Given the description of an element on the screen output the (x, y) to click on. 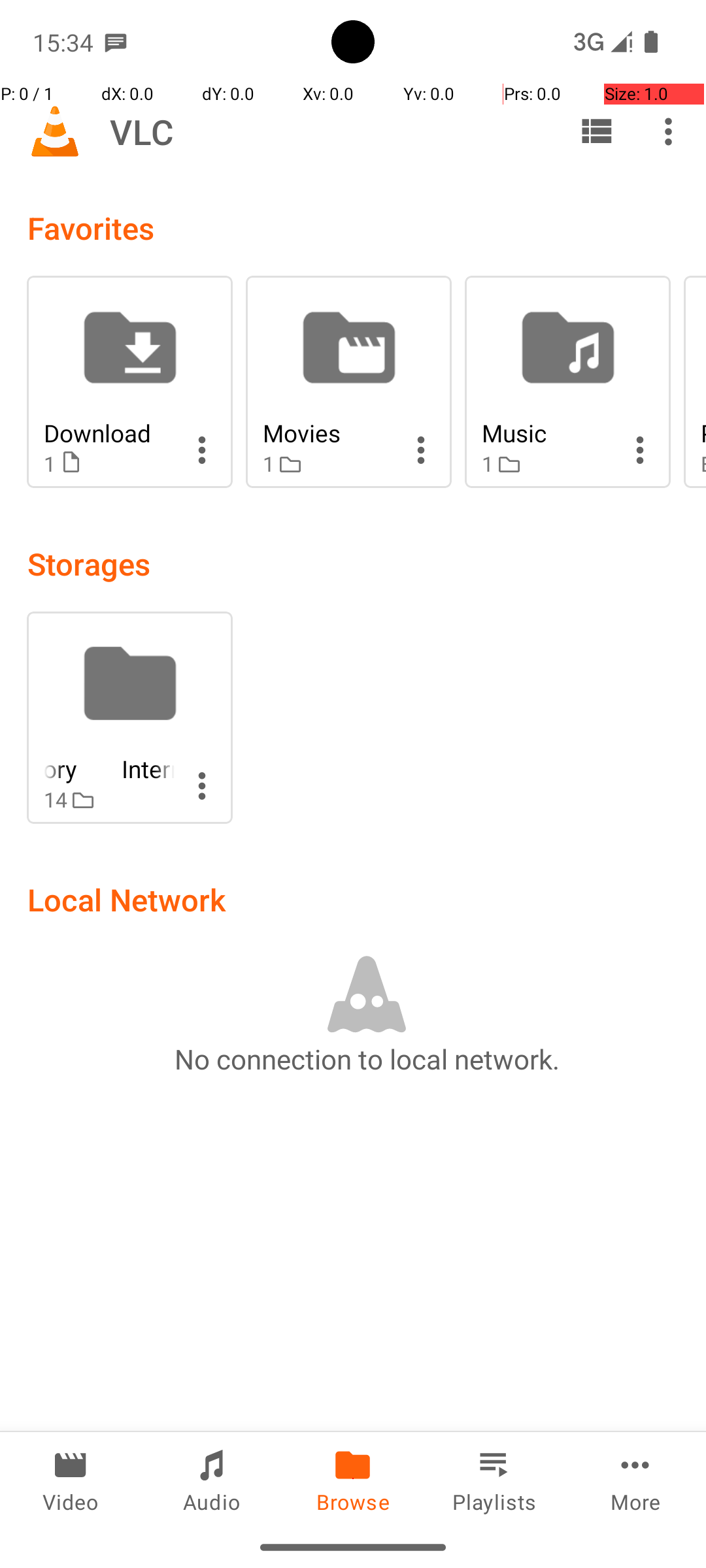
Display in list Element type: android.widget.TextView (595, 131)
Storages Element type: android.widget.TextView (88, 563)
Local Network Element type: android.widget.TextView (126, 898)
No connection to local network. Element type: android.widget.TextView (366, 1058)
Video Element type: android.widget.FrameLayout (70, 1478)
Browse Element type: android.widget.FrameLayout (352, 1478)
Favorite: Download, 1 media file Element type: androidx.cardview.widget.CardView (129, 381)
Favorite: Movies, 1 subfolder Element type: androidx.cardview.widget.CardView (348, 381)
Favorite: Music, 1 subfolder Element type: androidx.cardview.widget.CardView (567, 381)
Favorite: Podcasts, Empty Element type: androidx.cardview.widget.CardView (694, 381)
Folder: Internal memory, Empty Element type: androidx.cardview.widget.CardView (129, 717)
Download Element type: android.widget.TextView (108, 432)
1 *§* Element type: android.widget.TextView (108, 463)
More Actions Element type: android.widget.ImageView (201, 449)
Movies Element type: android.widget.TextView (327, 432)
1 §*§ Element type: android.widget.TextView (327, 463)
Podcasts Element type: android.widget.TextView (703, 432)
Empty Element type: android.widget.TextView (703, 463)
Internal memory Element type: android.widget.TextView (108, 768)
14 §*§ Element type: android.widget.TextView (108, 799)
